Given the description of an element on the screen output the (x, y) to click on. 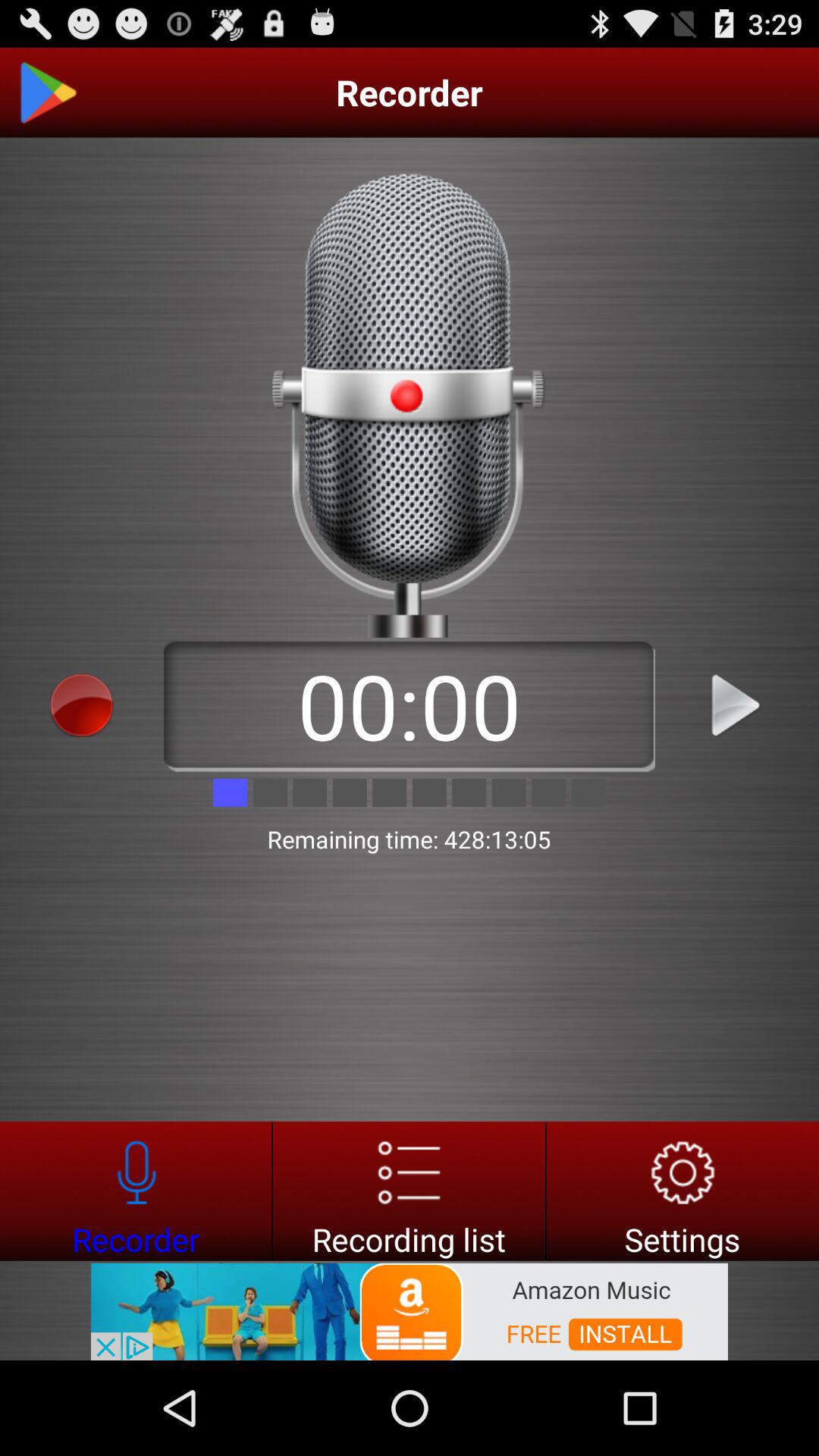
click to setting option (682, 1190)
